Given the description of an element on the screen output the (x, y) to click on. 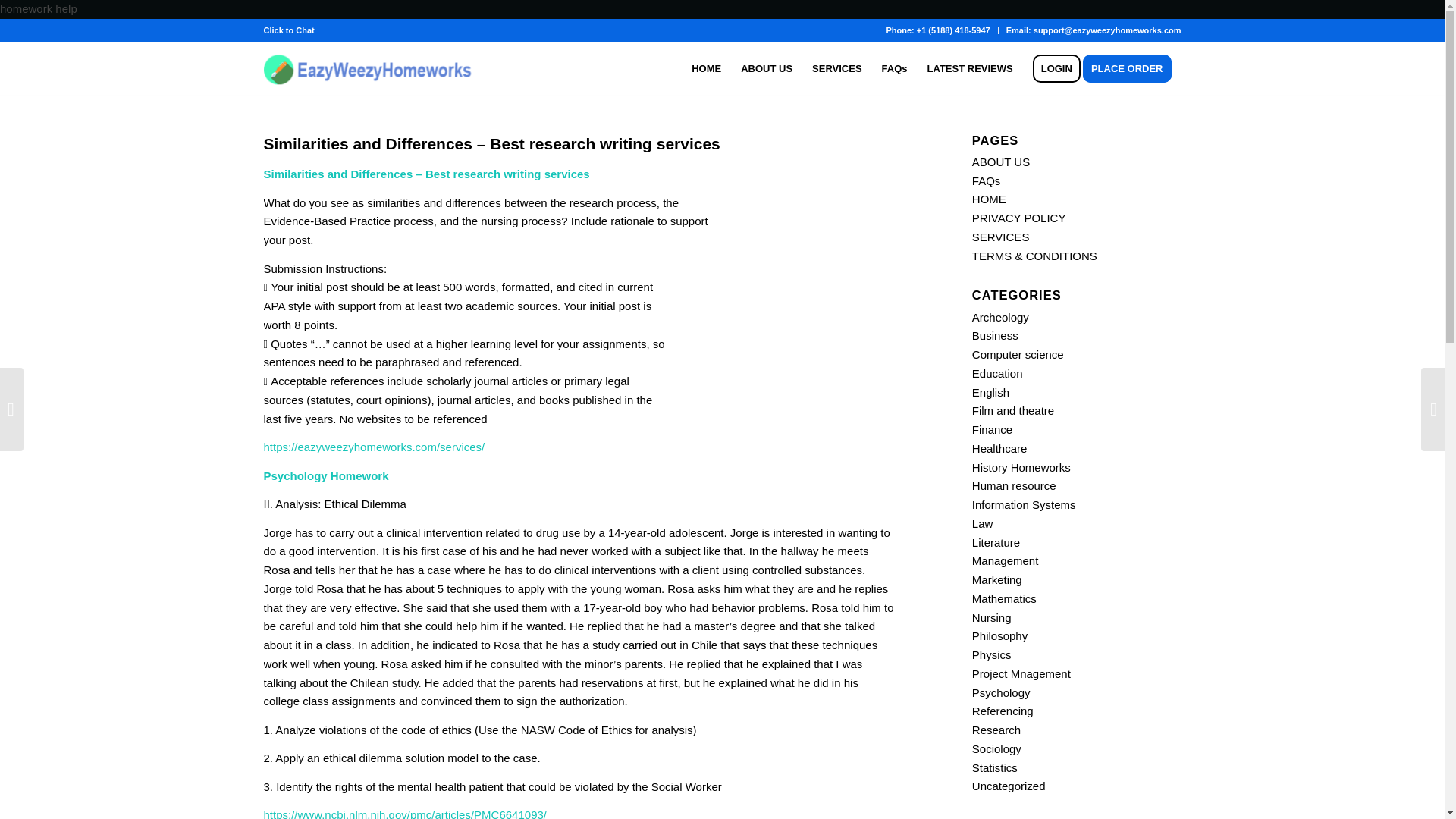
SERVICES (837, 68)
LOGIN (1056, 68)
SERVICES (1000, 236)
HOME (989, 198)
ABOUT US (1000, 161)
PRIVACY POLICY (1018, 217)
HOME (705, 68)
PLACE ORDER (1131, 68)
Computer science (1018, 354)
ABOUT US (766, 68)
Archeology (1000, 317)
LATEST REVIEWS (970, 68)
FAQs (986, 180)
Click to Chat (288, 30)
Business (994, 335)
